Given the description of an element on the screen output the (x, y) to click on. 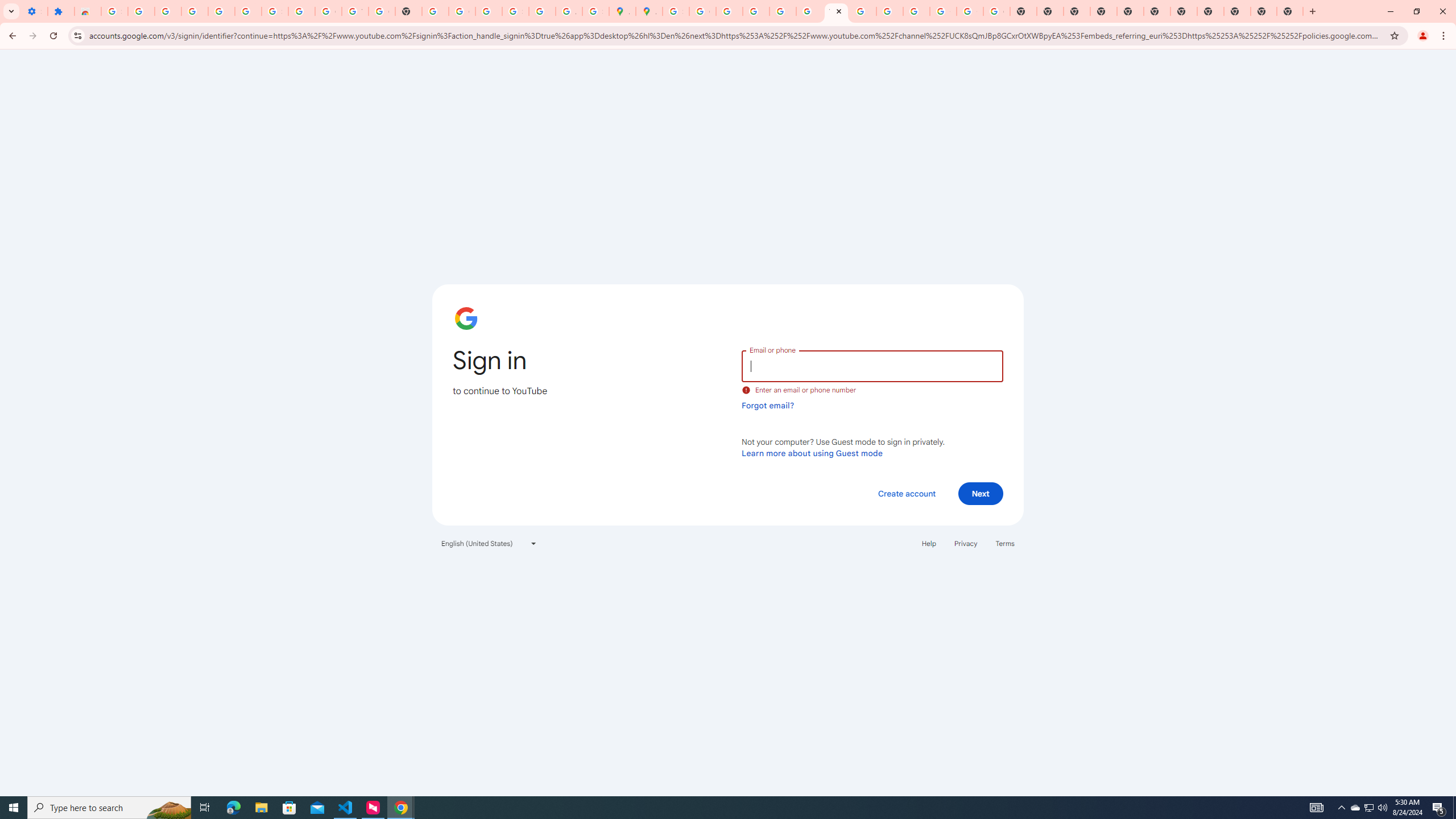
Learn how to find your photos - Google Photos Help (221, 11)
Browse Chrome as a guest - Computer - Google Chrome Help (862, 11)
Forgot email? (767, 404)
Sign in - Google Accounts (515, 11)
Sign in - Google Accounts (275, 11)
Next (980, 493)
